Given the description of an element on the screen output the (x, y) to click on. 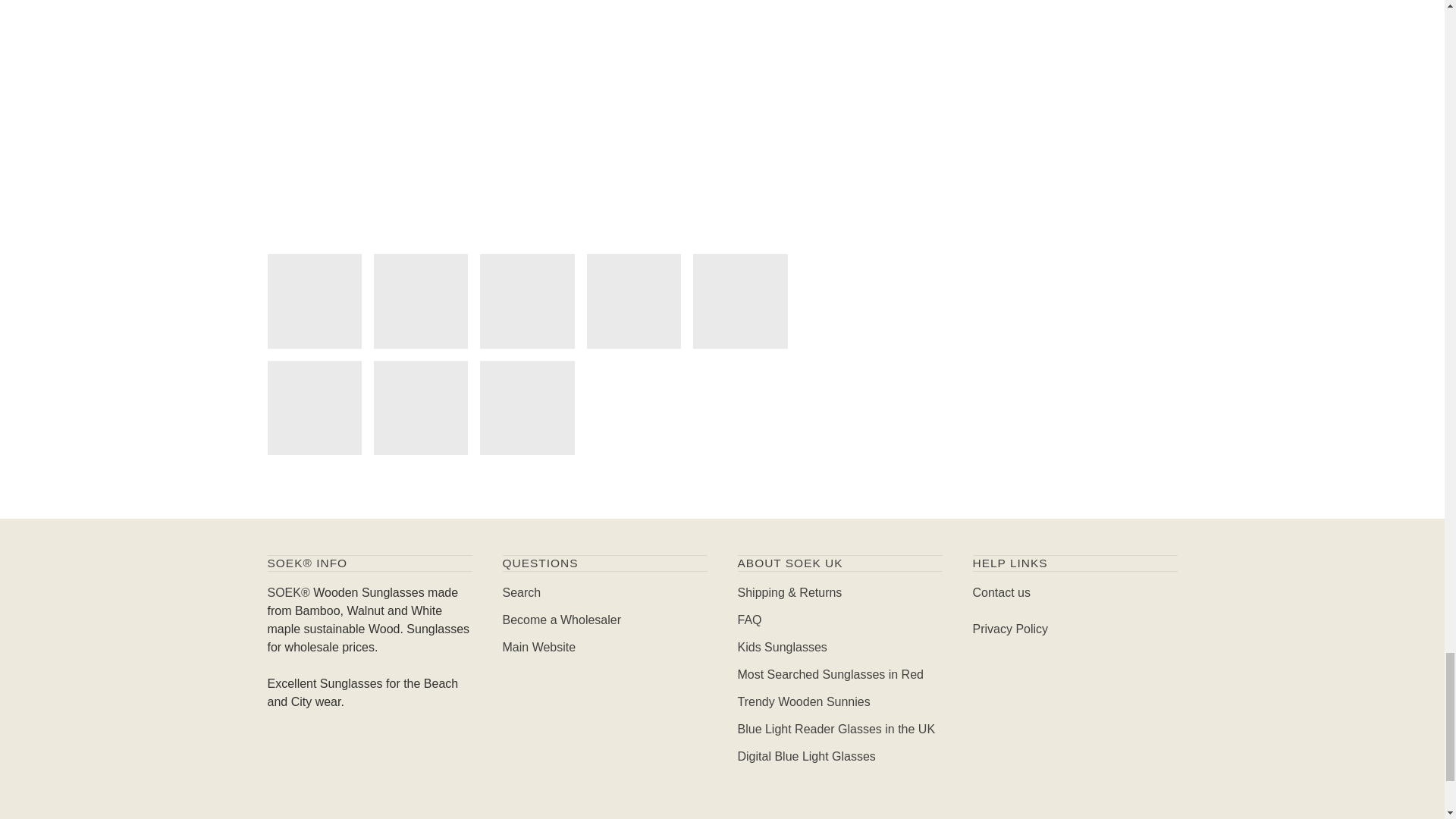
Contact Us (1000, 592)
Soek - New Zealand (287, 592)
Privacy Policy (1010, 628)
